Given the description of an element on the screen output the (x, y) to click on. 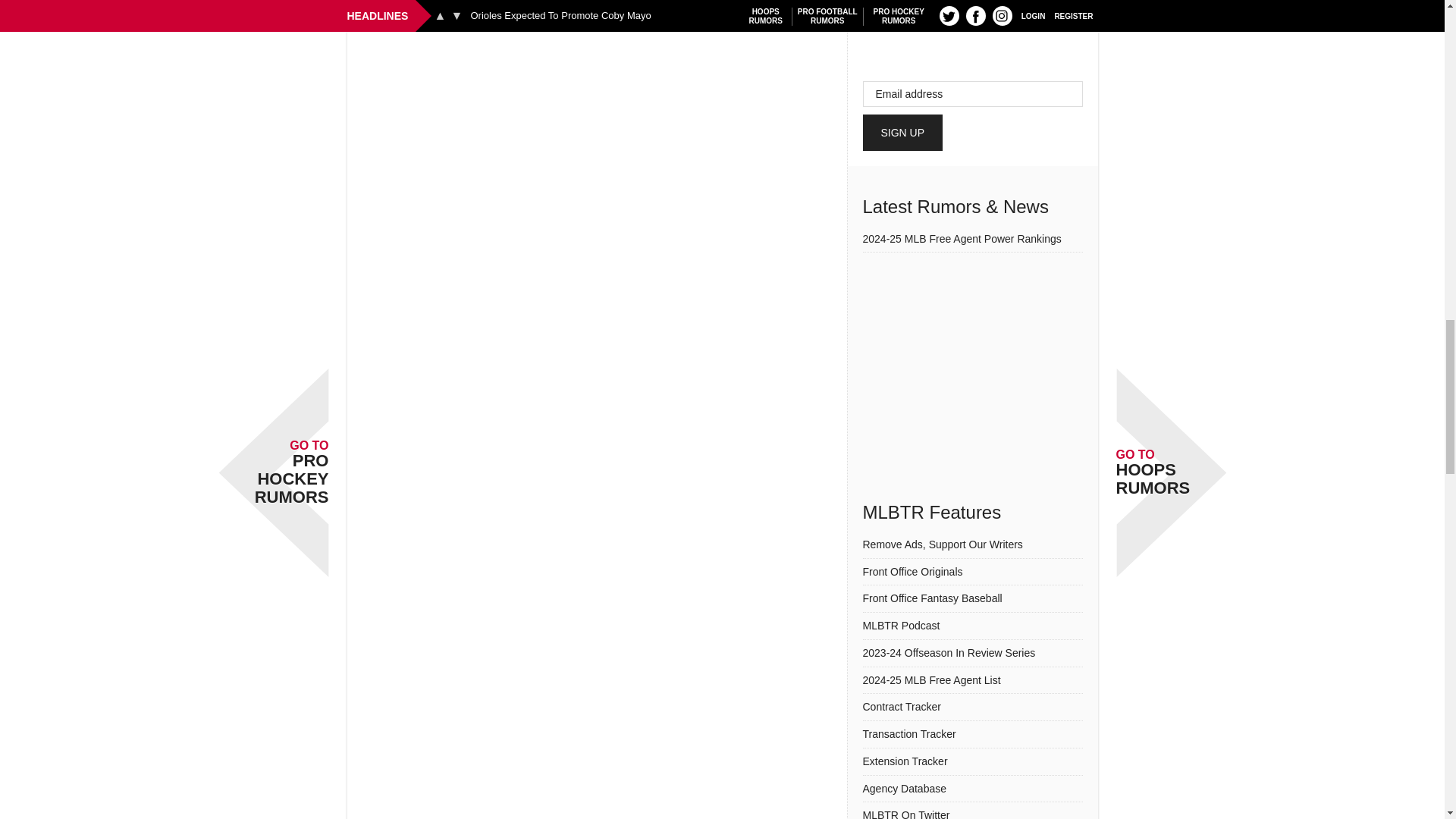
Sign Up (903, 132)
